Given the description of an element on the screen output the (x, y) to click on. 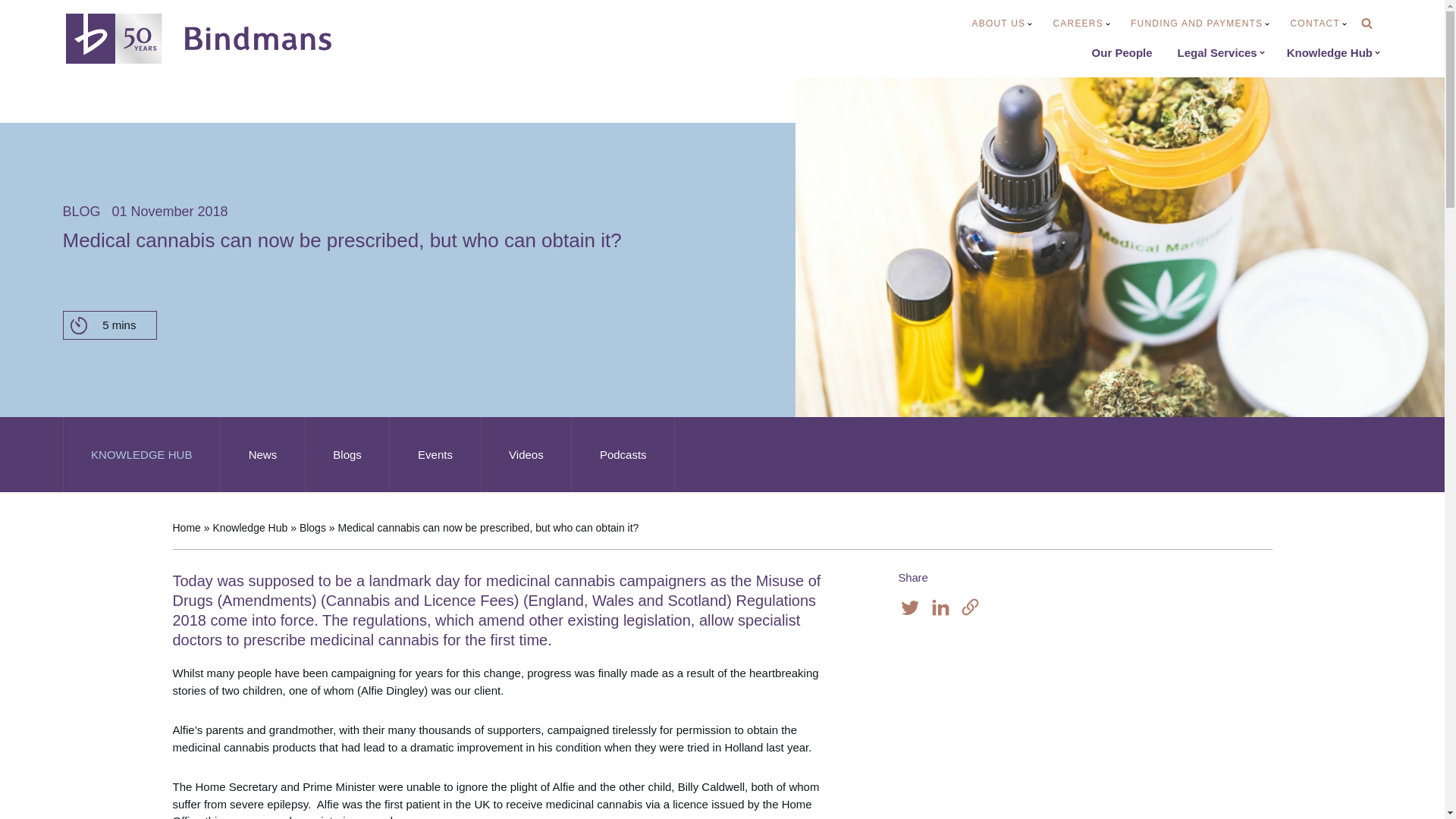
Legal Services (1221, 52)
Our People (1122, 52)
CAREERS (1080, 24)
FUNDING AND PAYMENTS (1200, 24)
Skip to content (11, 31)
CONTACT (1318, 24)
ABOUT US (1002, 24)
